Given the description of an element on the screen output the (x, y) to click on. 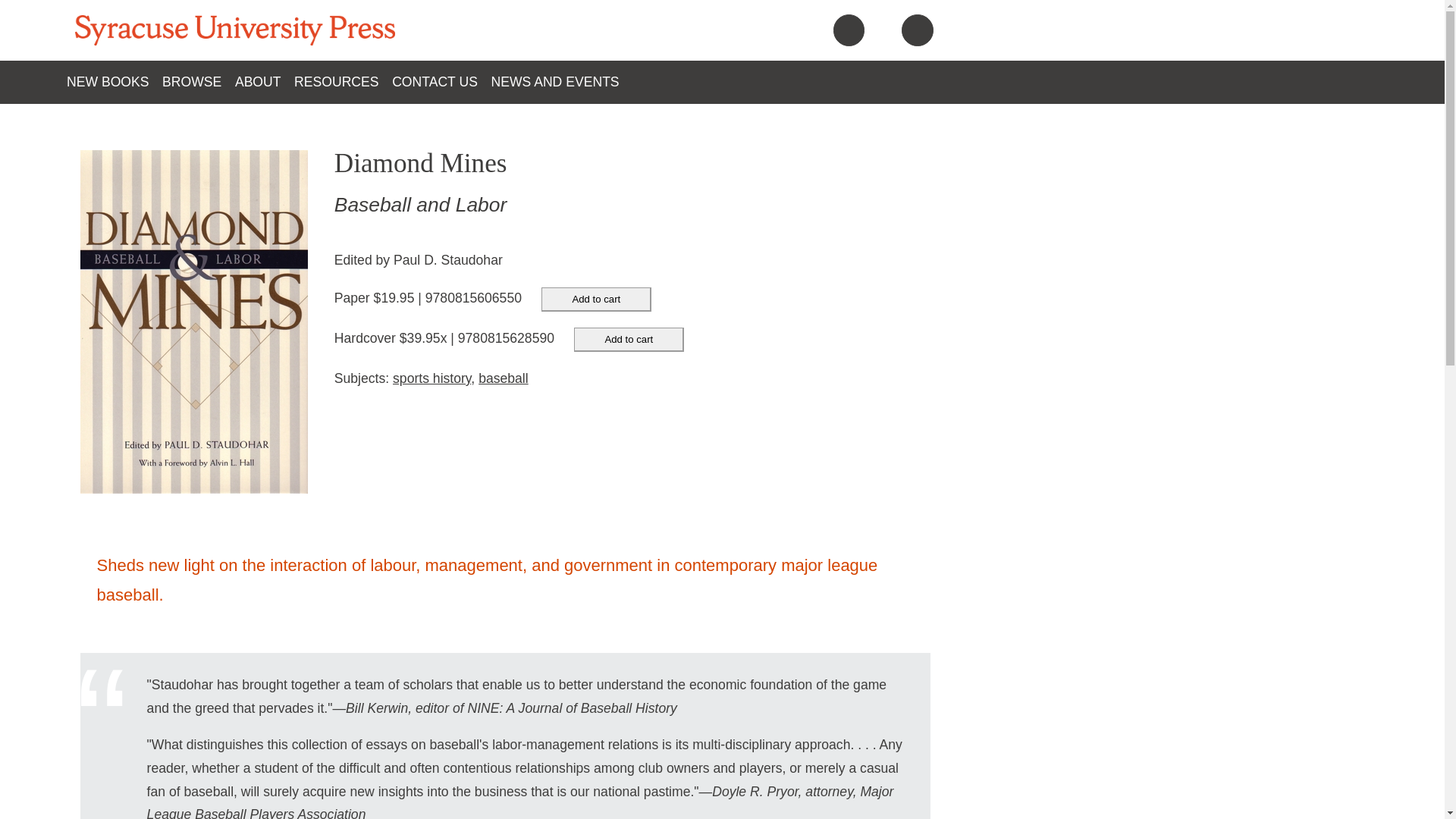
NEWS AND EVENTS (560, 82)
Add to cart (595, 299)
site searchSearch the site (917, 31)
NEW BOOKS (113, 82)
RESOURCES (342, 82)
open cartGo to cart (848, 29)
site searchSearch the site (917, 29)
Add to cart (628, 339)
baseball (503, 378)
sports history (431, 378)
